Given the description of an element on the screen output the (x, y) to click on. 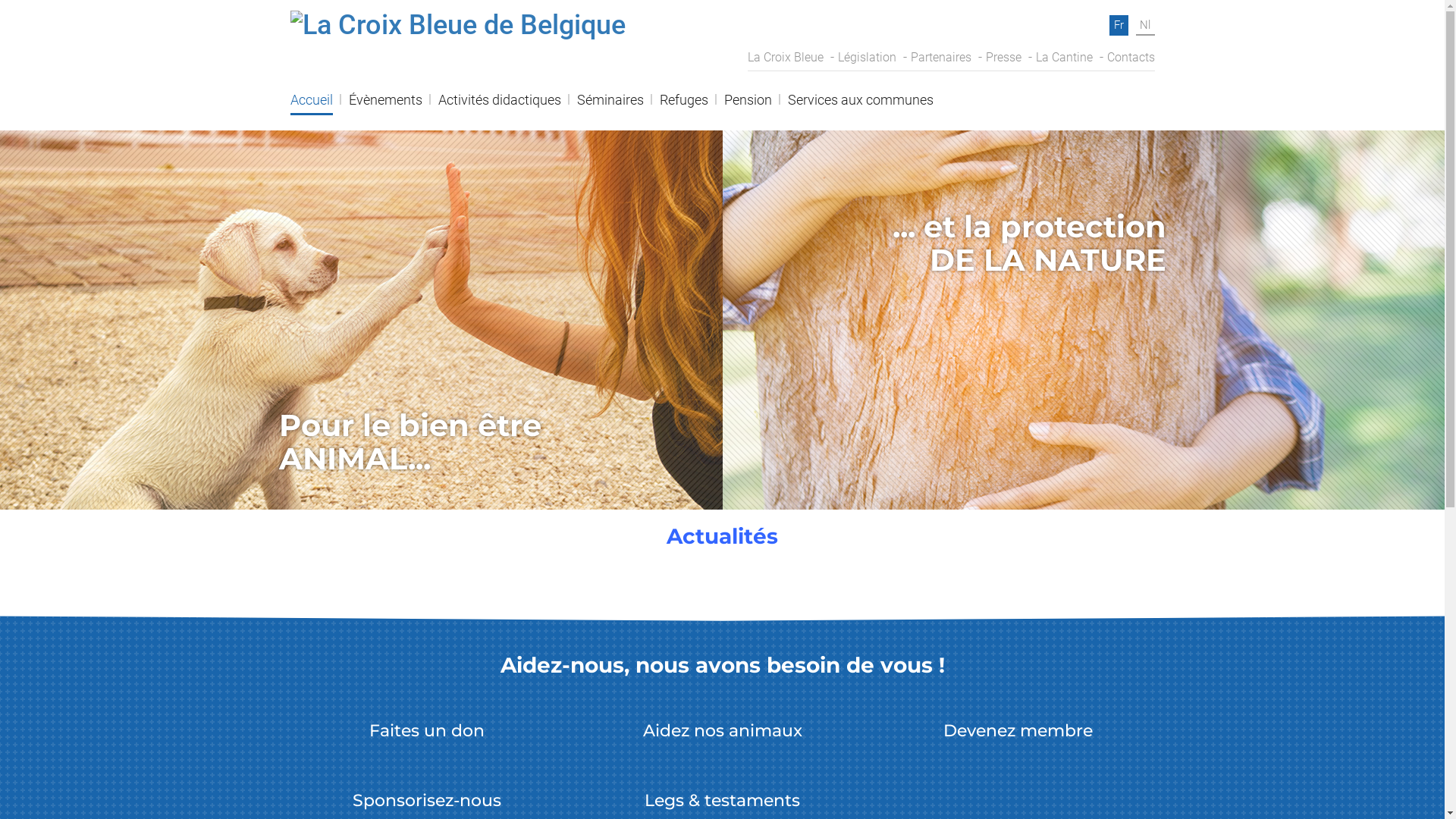
Devenez membre Element type: text (1017, 726)
La Croix Bleue Element type: text (785, 57)
Faites un don Element type: text (425, 726)
Presse Element type: text (1003, 57)
Pension Element type: text (747, 104)
Partenaires Element type: text (940, 57)
Nl Element type: text (1144, 25)
Fr Element type: text (1117, 25)
Accueil Element type: text (310, 104)
Sponsorisez-nous Element type: text (425, 796)
Refuges Element type: text (683, 104)
La Cantine Element type: text (1063, 57)
Legs & testaments Element type: text (722, 796)
Services aux communes Element type: text (859, 104)
Aidez nos animaux Element type: text (722, 726)
Contacts Element type: text (1130, 57)
